Given the description of an element on the screen output the (x, y) to click on. 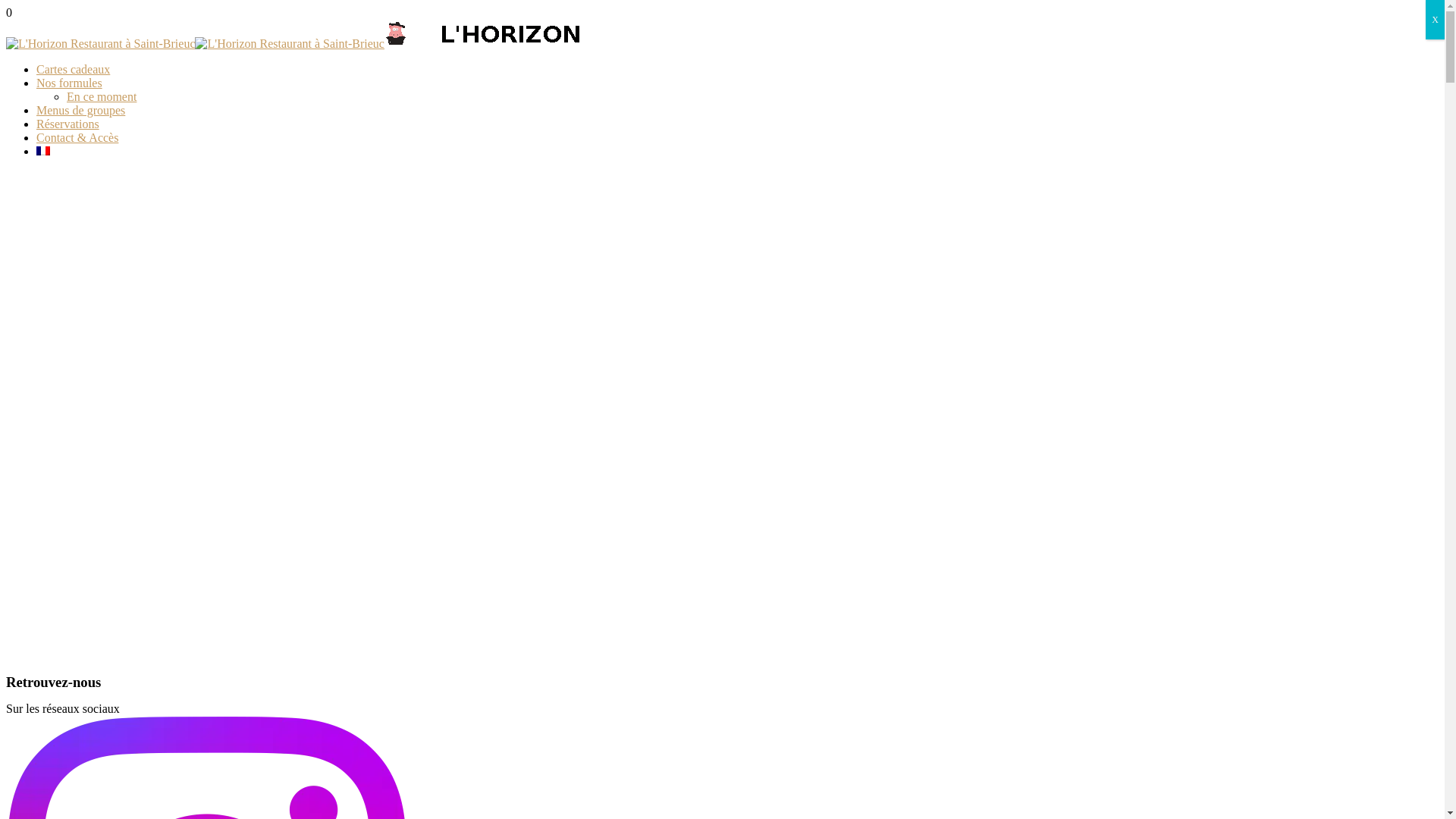
X Element type: text (1434, 19)
Cartes cadeaux Element type: text (72, 68)
Nos formules Element type: text (69, 82)
Menus de groupes Element type: text (80, 109)
En ce moment Element type: text (101, 96)
